Given the description of an element on the screen output the (x, y) to click on. 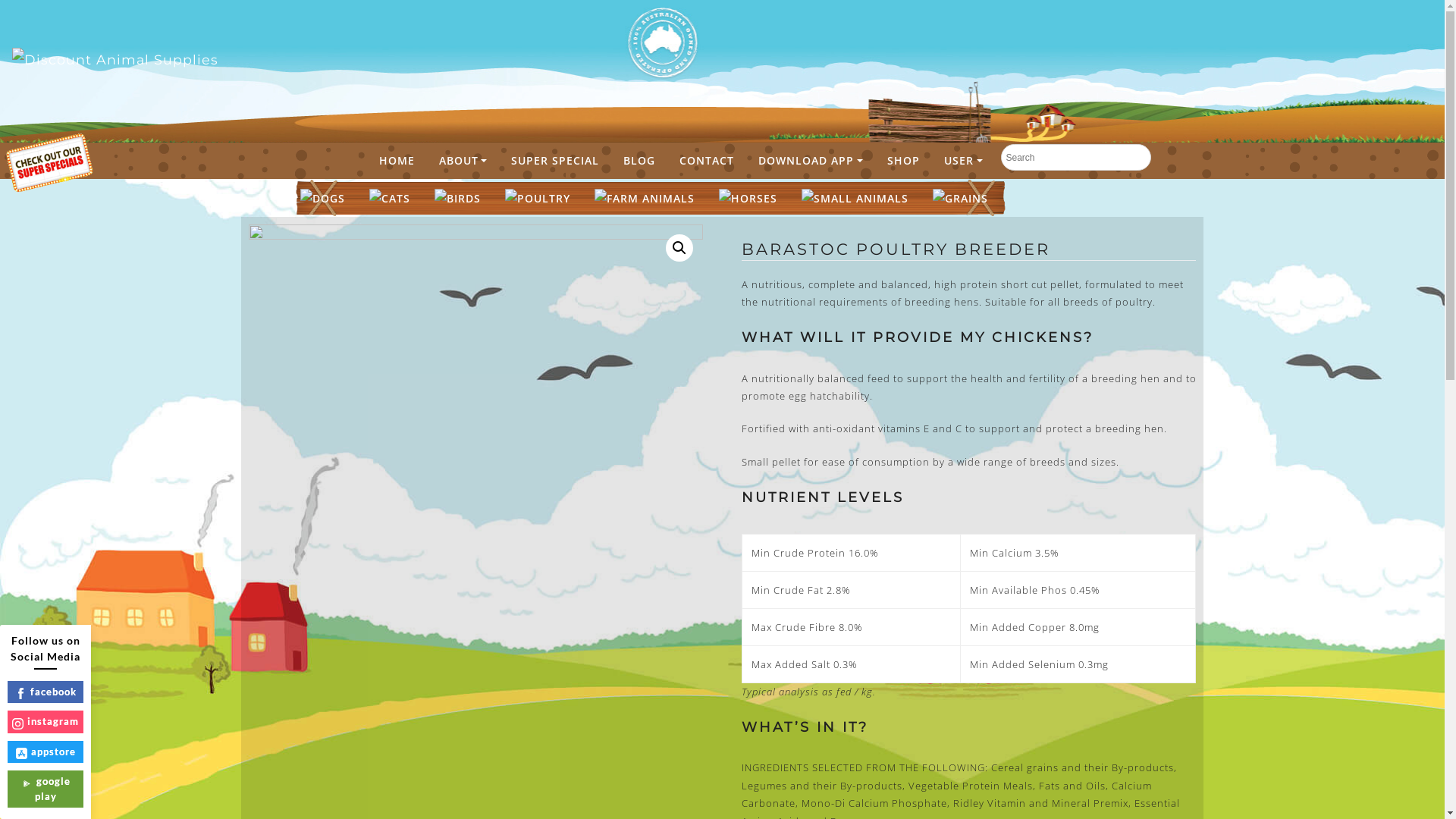
Cats Element type: hover (388, 197)
Horses Element type: hover (747, 197)
appstore Element type: text (45, 751)
Grains Element type: hover (960, 197)
Dogs Element type: hover (322, 197)
Farm Animals Element type: hover (644, 197)
google play Element type: text (45, 788)
Poultry Element type: hover (537, 197)
Birds Element type: hover (456, 197)
Horses Element type: hover (747, 197)
Birds Element type: hover (456, 197)
Farm Animals Element type: hover (644, 197)
Small Animals Element type: hover (853, 197)
poutry-breeder-wellness Element type: hover (475, 512)
HOME Element type: text (396, 160)
DOWNLOAD APP Element type: text (810, 160)
SUPER SPECIAL Element type: text (555, 160)
Cats Element type: hover (388, 197)
Dogs Element type: hover (322, 197)
BLOG Element type: text (639, 160)
CONTACT Element type: text (706, 160)
Poultry Element type: hover (537, 197)
Small Animals Element type: hover (853, 197)
instagram Element type: text (45, 721)
Grains Element type: hover (960, 197)
ABOUT Element type: text (463, 160)
USER Element type: text (963, 160)
facebook Element type: text (45, 691)
SHOP Element type: text (903, 160)
